Given the description of an element on the screen output the (x, y) to click on. 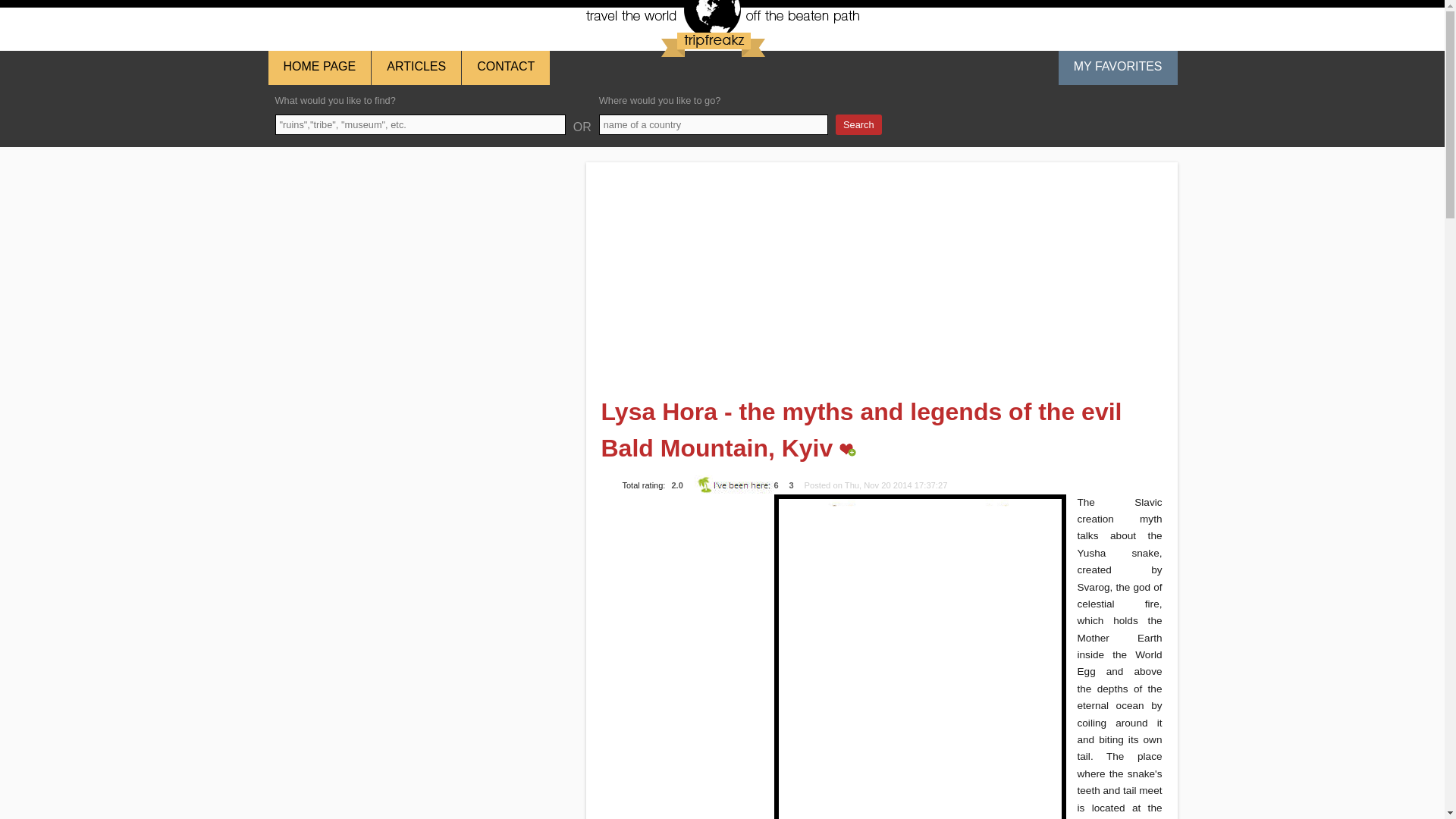
ARTICLES (416, 67)
MY FAVORITES (1117, 67)
good (637, 476)
CONTACT (505, 67)
Search (857, 124)
amazing (666, 476)
bad (606, 476)
awesome (652, 476)
good enough (622, 476)
HOME PAGE (319, 67)
